Given the description of an element on the screen output the (x, y) to click on. 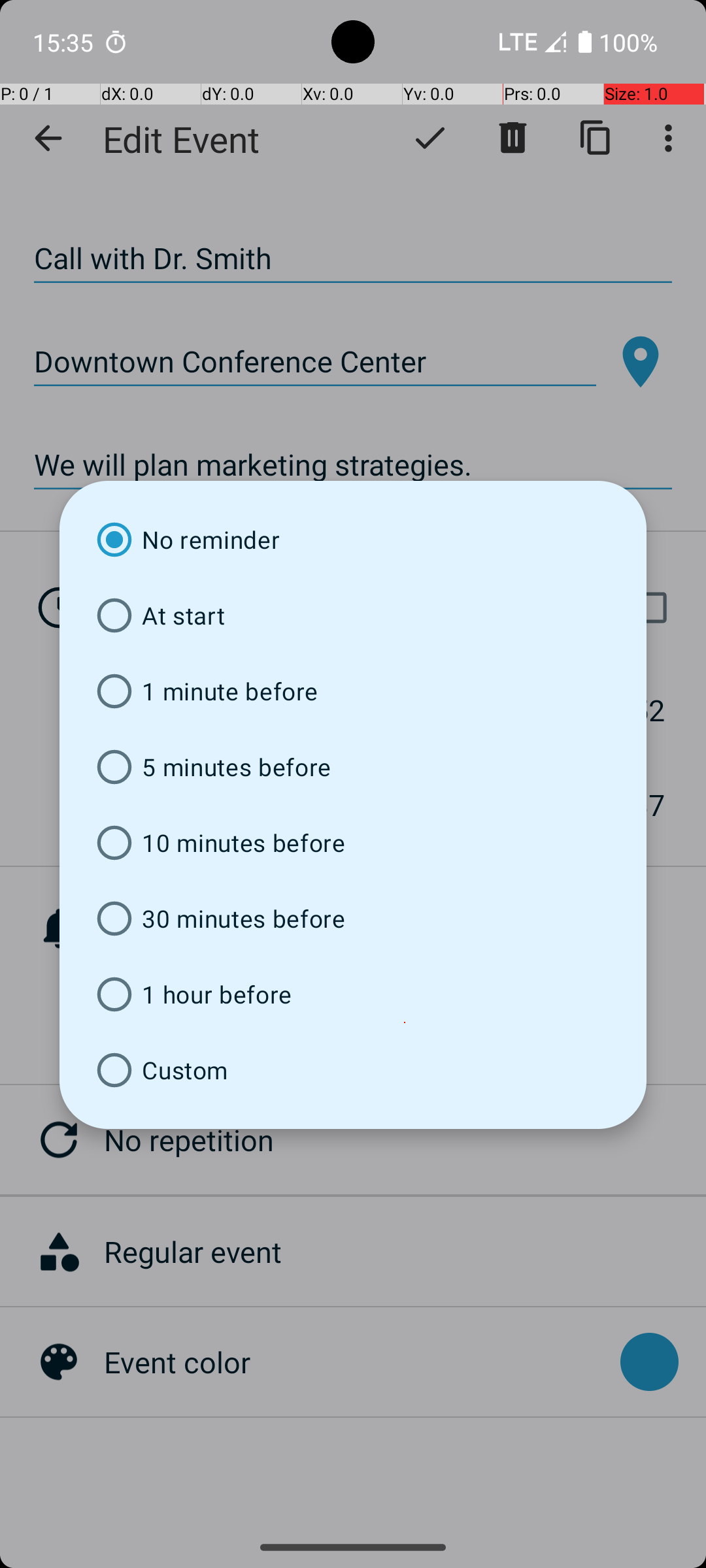
At start Element type: android.widget.RadioButton (352, 615)
1 minute before Element type: android.widget.RadioButton (352, 691)
5 minutes before Element type: android.widget.RadioButton (352, 766)
30 minutes before Element type: android.widget.RadioButton (352, 918)
1 hour before Element type: android.widget.RadioButton (352, 994)
